Given the description of an element on the screen output the (x, y) to click on. 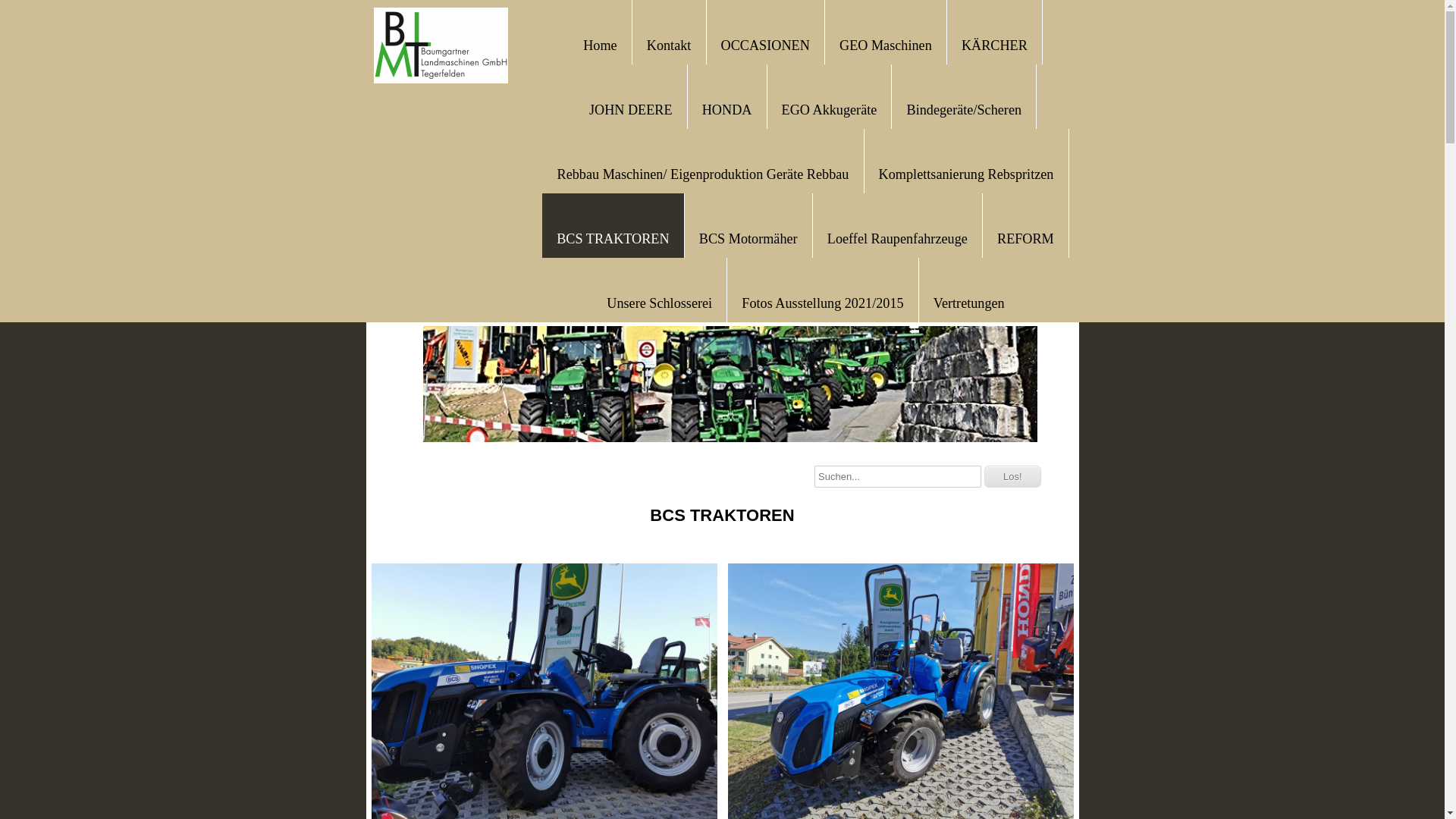
Kontakt Element type: text (669, 43)
JOHN DEERE Element type: text (630, 107)
Los! Element type: text (1012, 476)
Komplettsanierung Rebspritzen Element type: text (966, 172)
Fotos Ausstellung 2021/2015 Element type: text (822, 301)
OCCASIONEN Element type: text (765, 43)
BCS TRAKTOREN Element type: text (612, 236)
Loeffel Raupenfahrzeuge Element type: text (897, 236)
Home Element type: text (599, 43)
HONDA Element type: text (726, 107)
Vertretungen Element type: text (968, 301)
REFORM Element type: text (1025, 236)
GEO Maschinen Element type: text (885, 43)
Unsere Schlosserei Element type: text (659, 301)
